Given the description of an element on the screen output the (x, y) to click on. 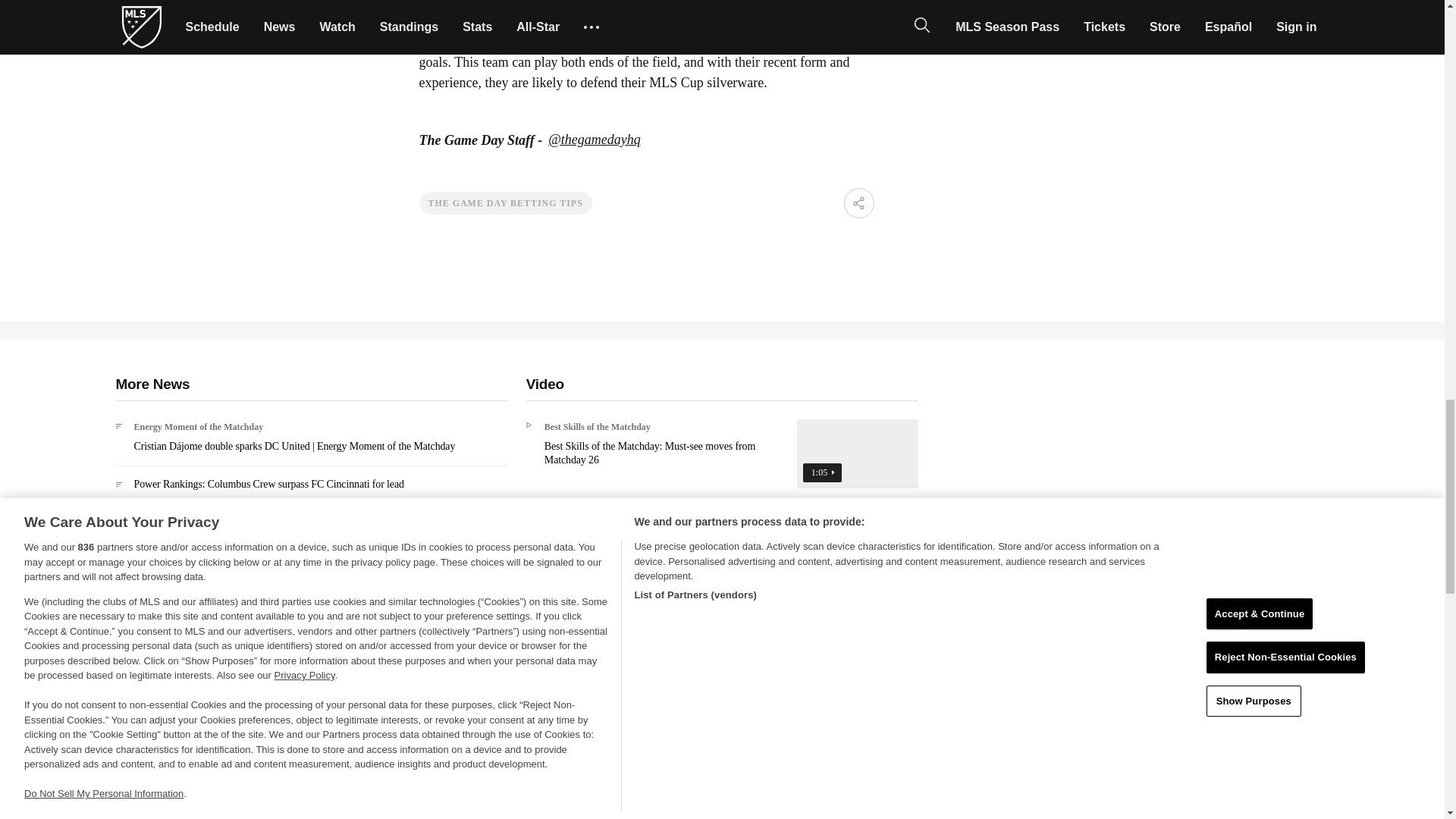
Player of the Matchday 26: Ashley Westwood (721, 737)
Eduard Atuesta savors LAFC return: "I love the club" (310, 538)
Best Skills of the Matchday: Must-see moves from Matchday 26 (721, 459)
Power Rankings: Columbus Crew surpass FC Cincinnati for lead (310, 490)
Go to the Twitter profile (594, 140)
Were big calls right in FC Cincinnati vs. Charlotte FC? (721, 645)
